Given the description of an element on the screen output the (x, y) to click on. 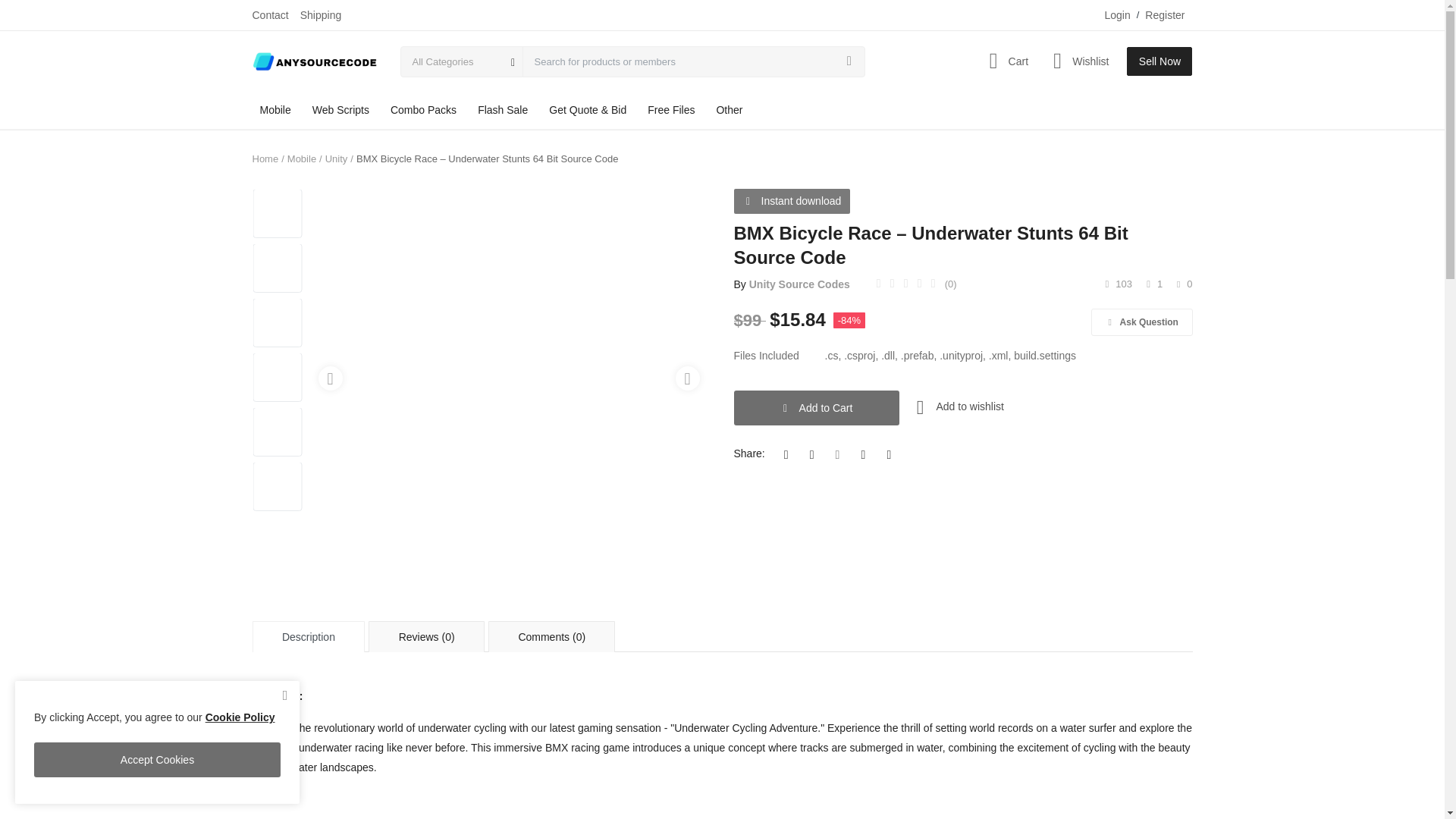
Login (1116, 14)
Contact (269, 14)
Combo Packs (423, 109)
Other (728, 109)
All Categories (460, 61)
Mobile (274, 109)
Web Scripts (340, 109)
Sell Now (1159, 61)
Register (1164, 14)
Free Files (670, 109)
Flash Sale (502, 109)
Wishlist (1078, 60)
Shipping (320, 14)
Cart (1004, 60)
